Given the description of an element on the screen output the (x, y) to click on. 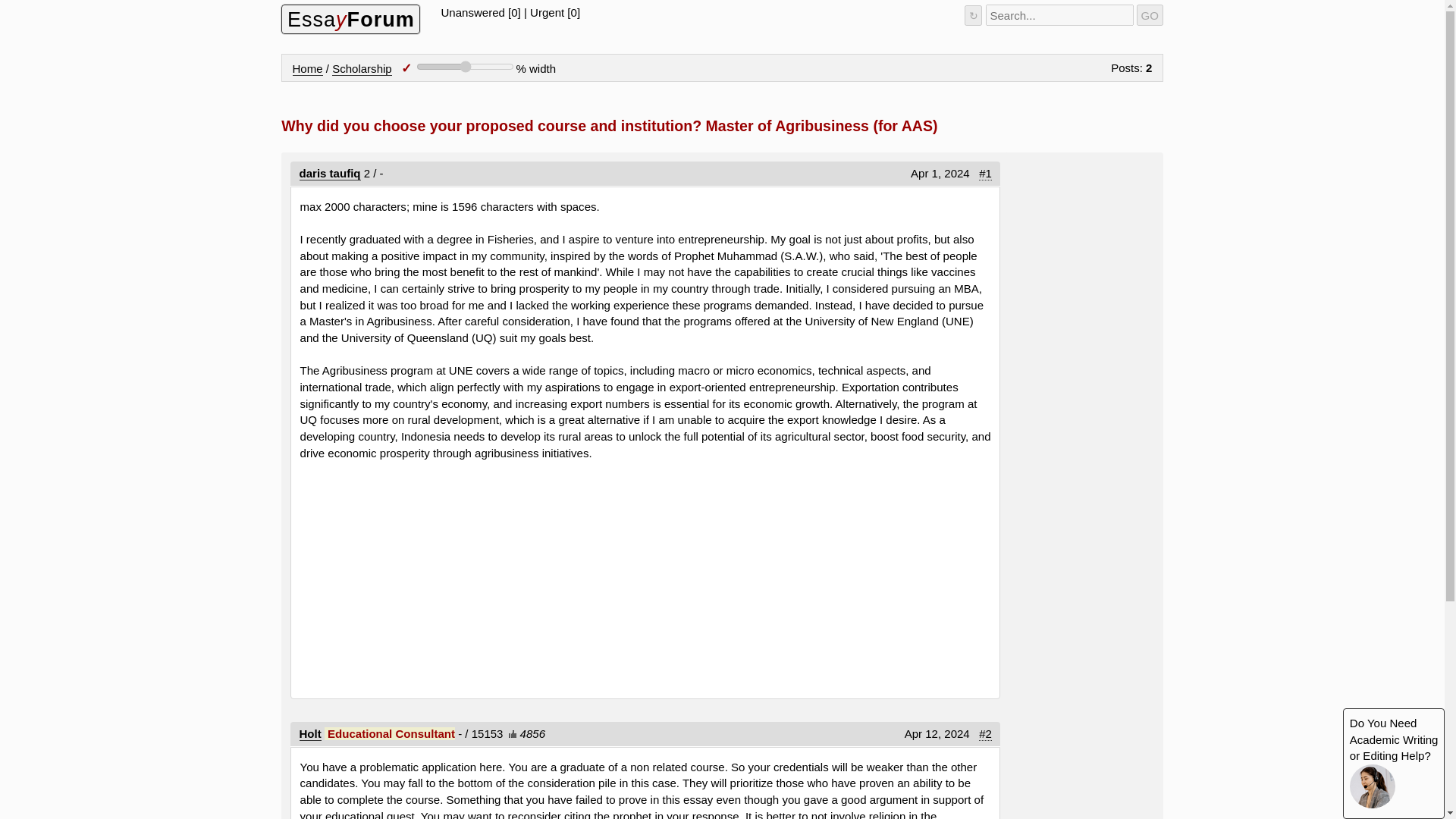
Author: daris taufiqurrahman (330, 173)
Author: Mary Rose (310, 734)
EssayForum (350, 19)
Scholarship (361, 69)
60 (464, 66)
Home (307, 69)
daris taufiq (330, 173)
Holt (310, 734)
Likes (511, 733)
EssayForum.com (350, 19)
